Given the description of an element on the screen output the (x, y) to click on. 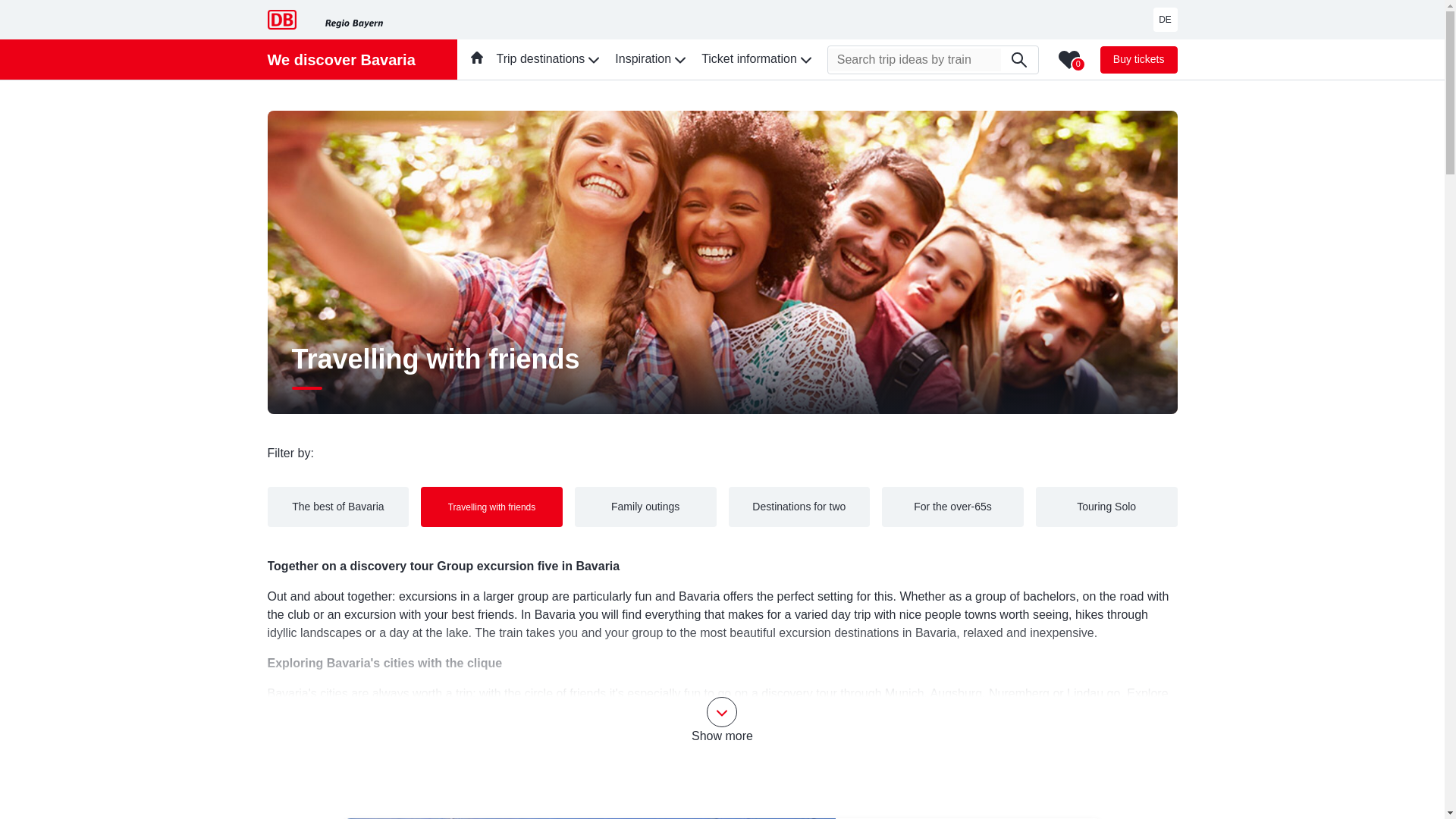
Travelling with friends (491, 506)
Trip destinations (549, 59)
DE (1164, 19)
Family outings (645, 506)
Destinations for two (798, 506)
We discover Bavaria (340, 59)
0 (1069, 58)
Touring Solo (1106, 506)
Ticket information (758, 59)
Inspiration (651, 59)
Search (1019, 58)
For the over-65s (952, 506)
Buy tickets (1138, 58)
The best of Bavaria (337, 506)
